Given the description of an element on the screen output the (x, y) to click on. 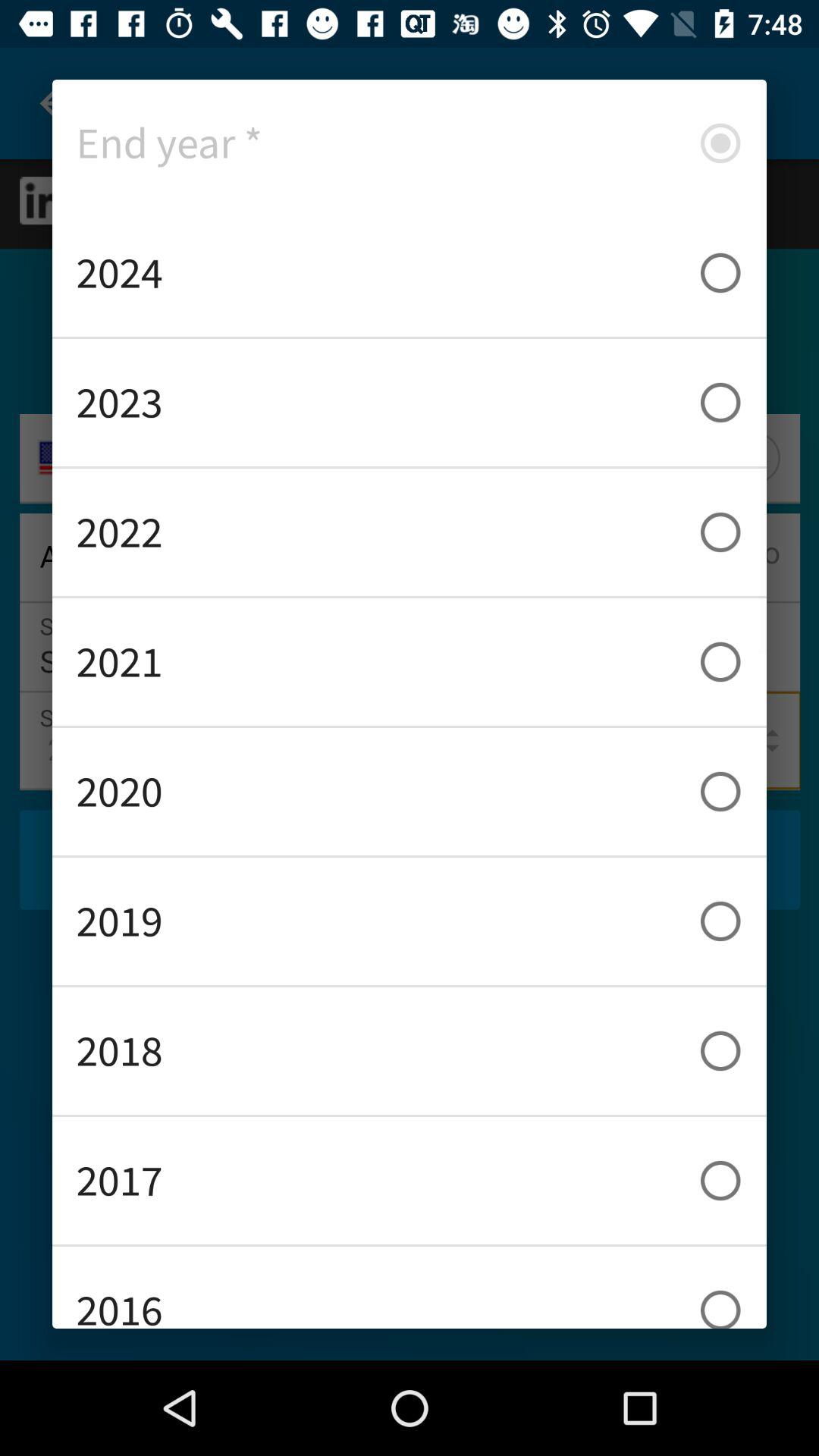
flip until 2017 (409, 1180)
